Given the description of an element on the screen output the (x, y) to click on. 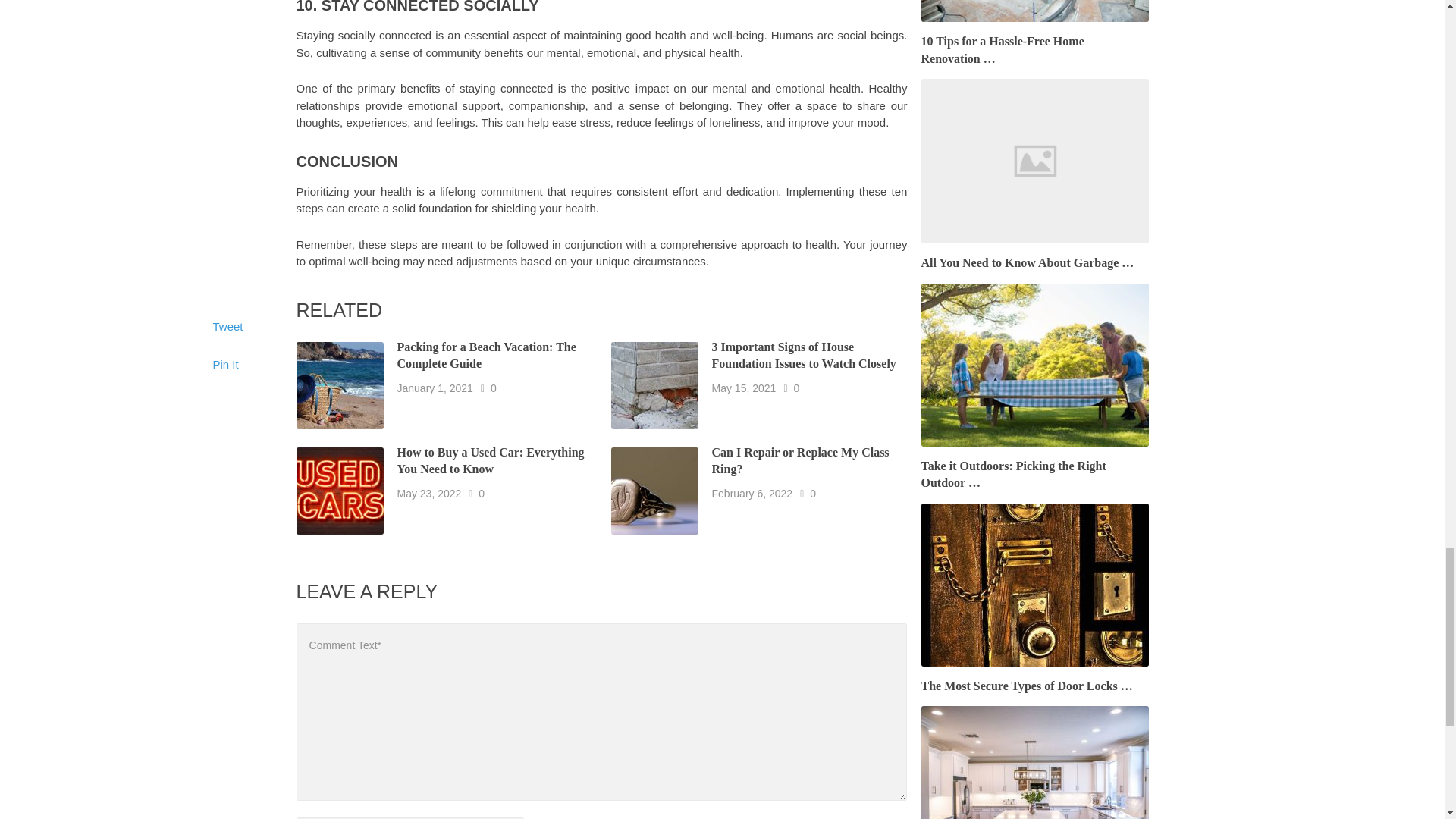
Packing for a Beach Vacation: The Complete Guide (486, 355)
Can I Repair or Replace My Class Ring? (800, 460)
0 (481, 493)
Packing for a Beach Vacation: The Complete Guide (486, 355)
How to Buy a Used Car: Everything You Need to Know (491, 460)
How to Buy a Used Car: Everything You Need to Know (491, 460)
